Given the description of an element on the screen output the (x, y) to click on. 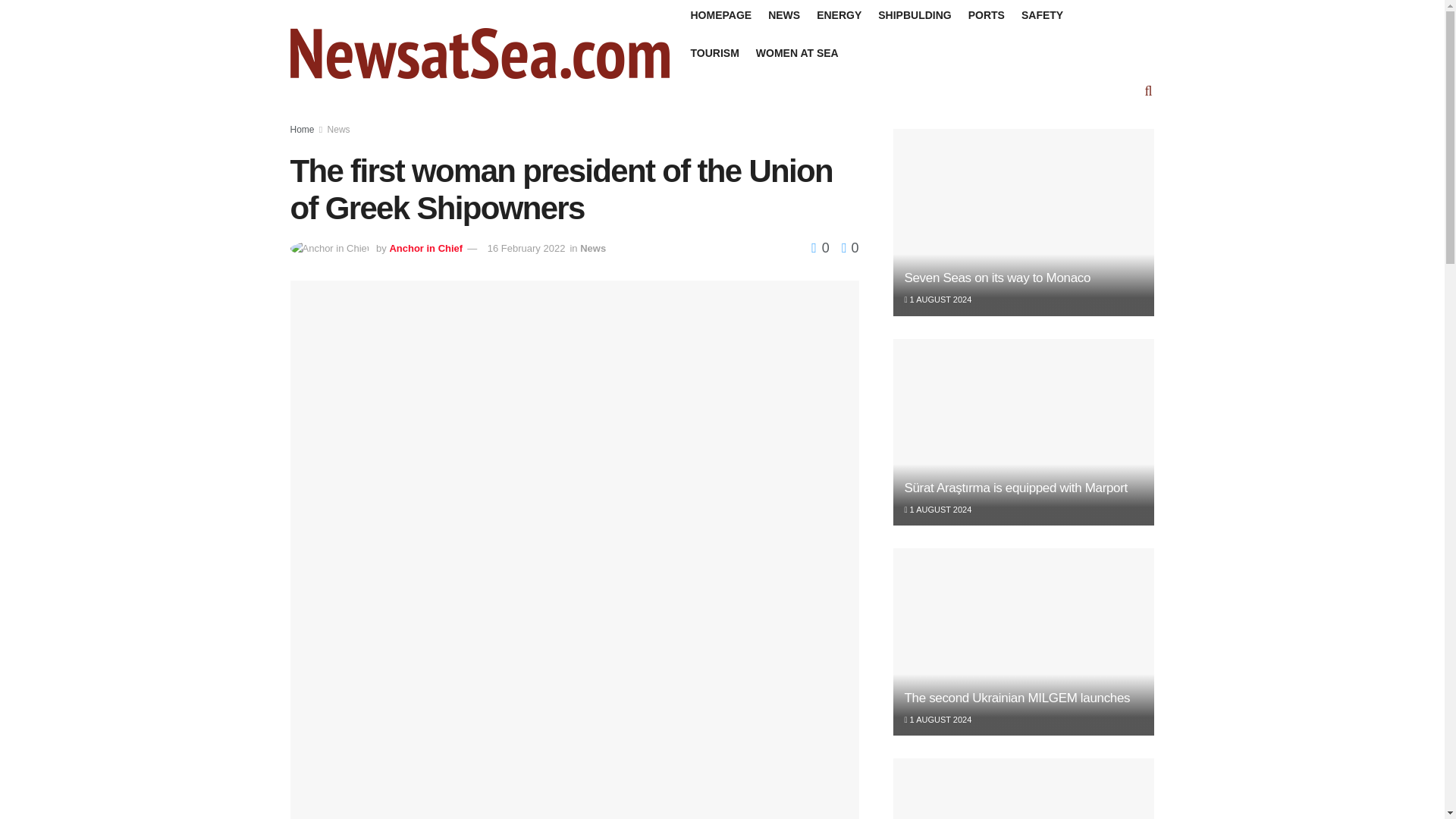
ENERGY (838, 14)
News (338, 129)
16 February 2022 (526, 247)
TOURISM (714, 52)
SAFETY (1042, 14)
News (592, 247)
HOMEPAGE (720, 14)
PORTS (986, 14)
Anchor in Chief (425, 247)
NEWS (783, 14)
Home (301, 129)
WOMEN AT SEA (796, 52)
0 (821, 247)
SHIPBULDING (913, 14)
0 (845, 247)
